Given the description of an element on the screen output the (x, y) to click on. 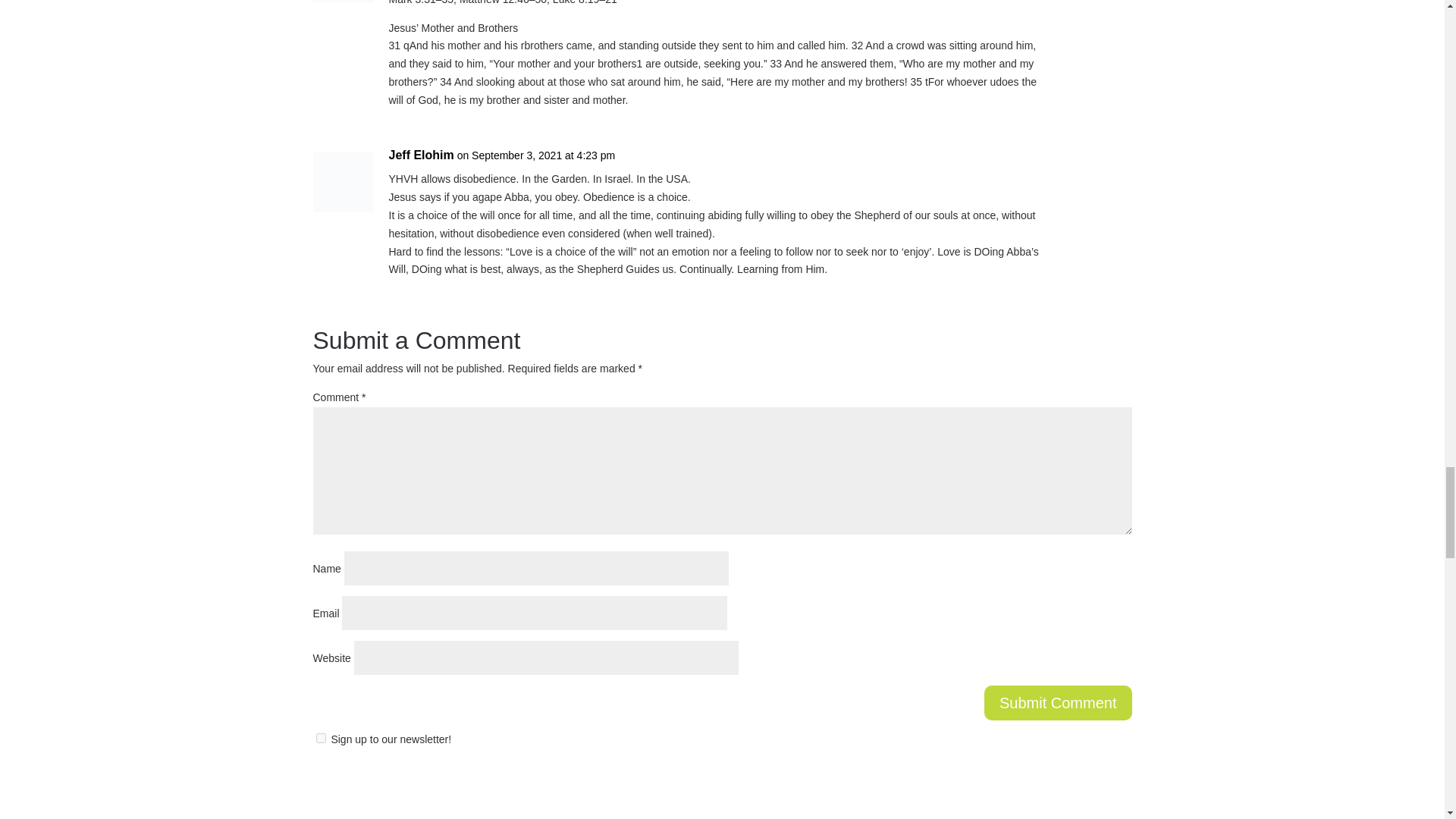
Submit Comment (1058, 702)
1 (319, 737)
Submit Comment (1058, 702)
Jeff Elohim (420, 155)
